Given the description of an element on the screen output the (x, y) to click on. 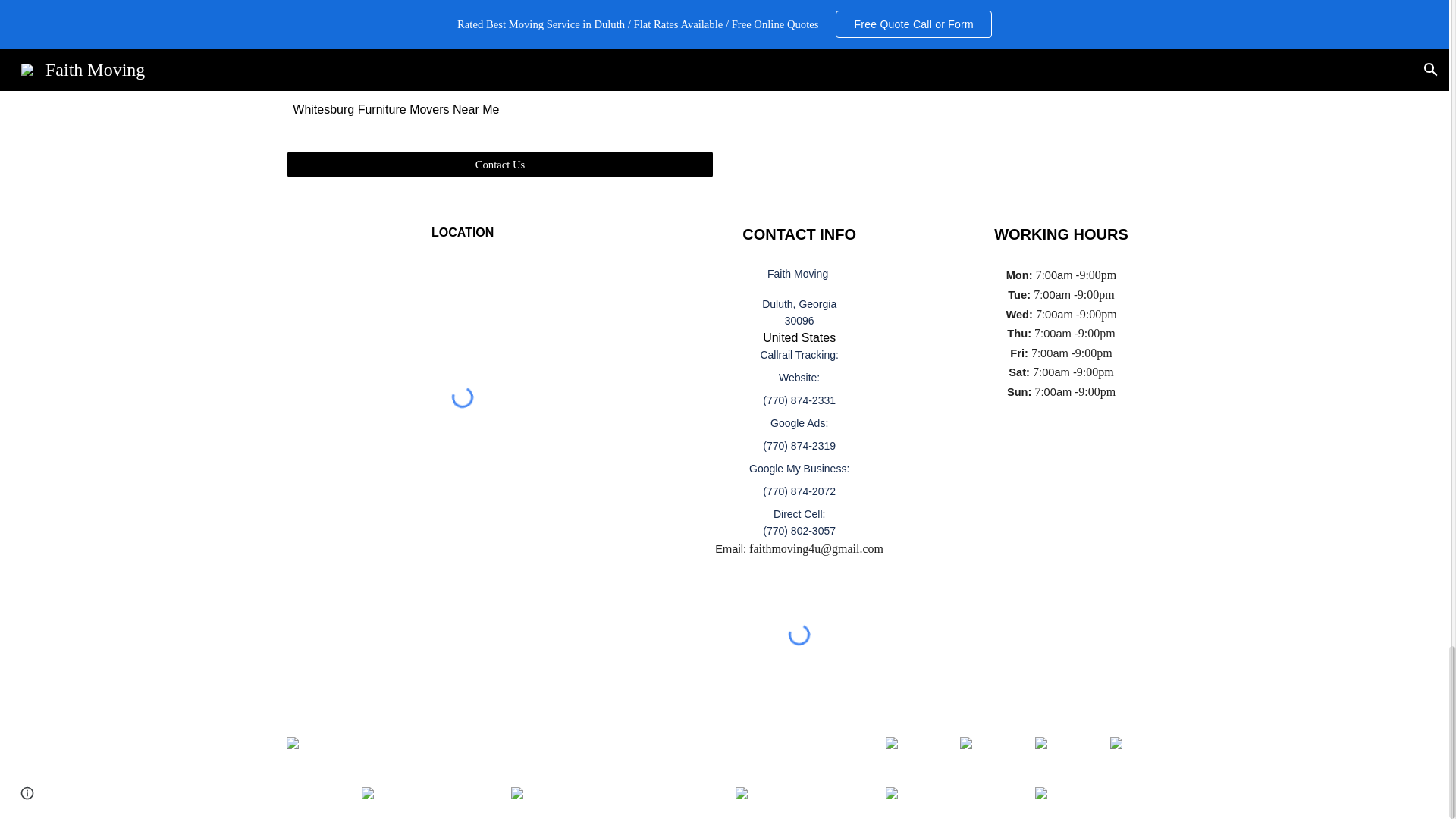
Custom embed (462, 396)
